Given the description of an element on the screen output the (x, y) to click on. 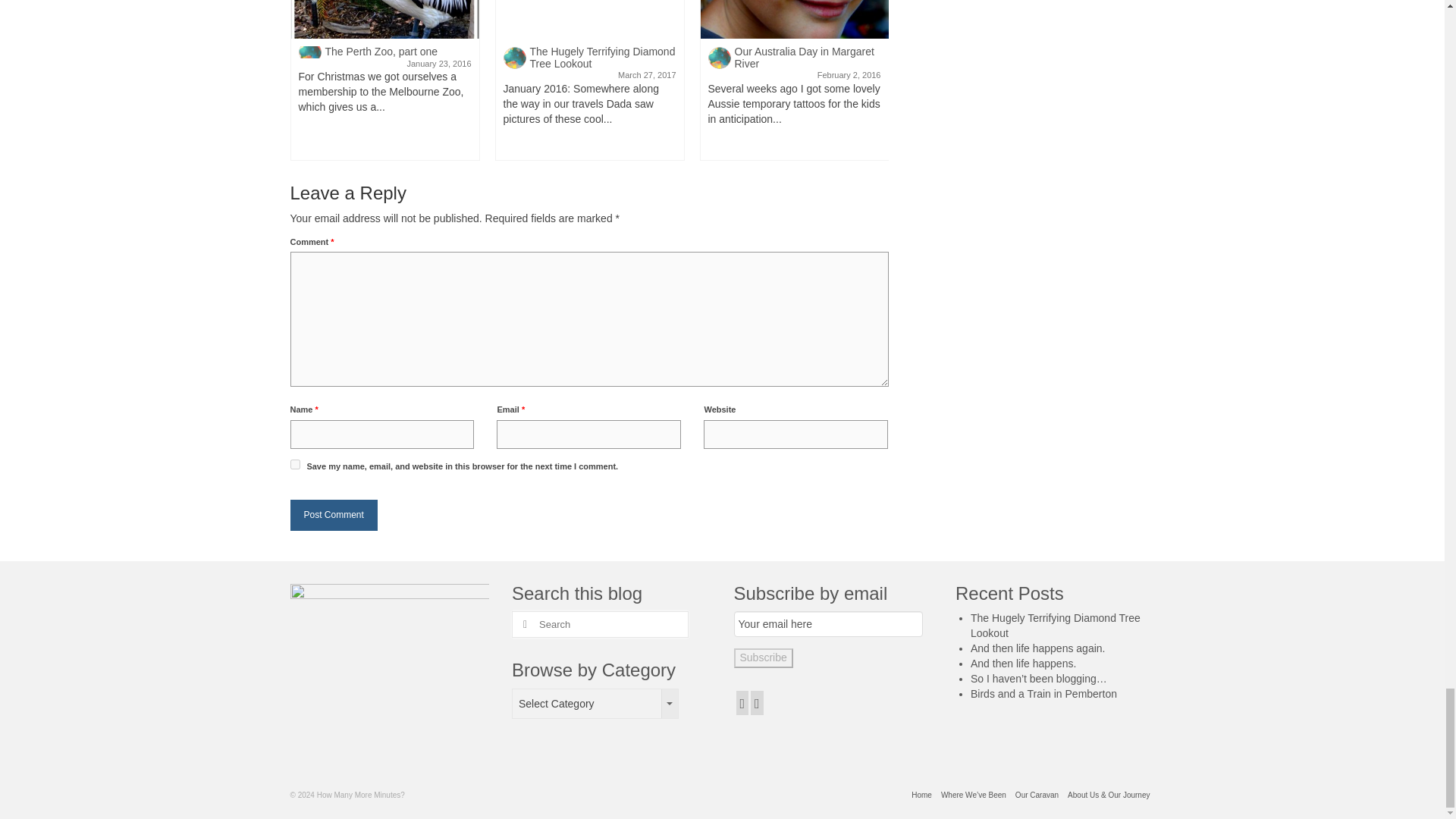
Post Comment (333, 514)
Your email here (828, 623)
The Perth Zoo, part one (385, 19)
Your email here (828, 623)
yes (294, 464)
